Given the description of an element on the screen output the (x, y) to click on. 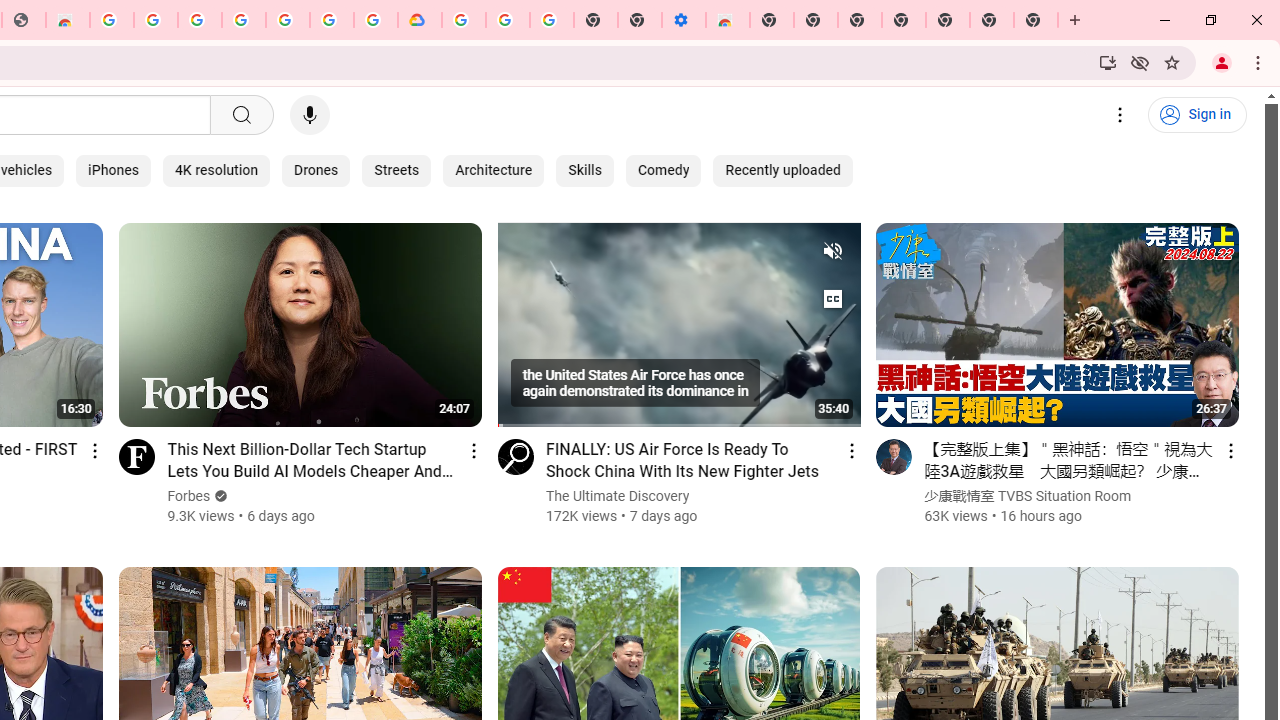
Settings - Accessibility (683, 20)
Seek slider (678, 419)
Chrome Web Store - Household (67, 20)
Verified (219, 495)
The Ultimate Discovery (618, 496)
Comedy (662, 170)
iPhones (113, 170)
Architecture (493, 170)
